Given the description of an element on the screen output the (x, y) to click on. 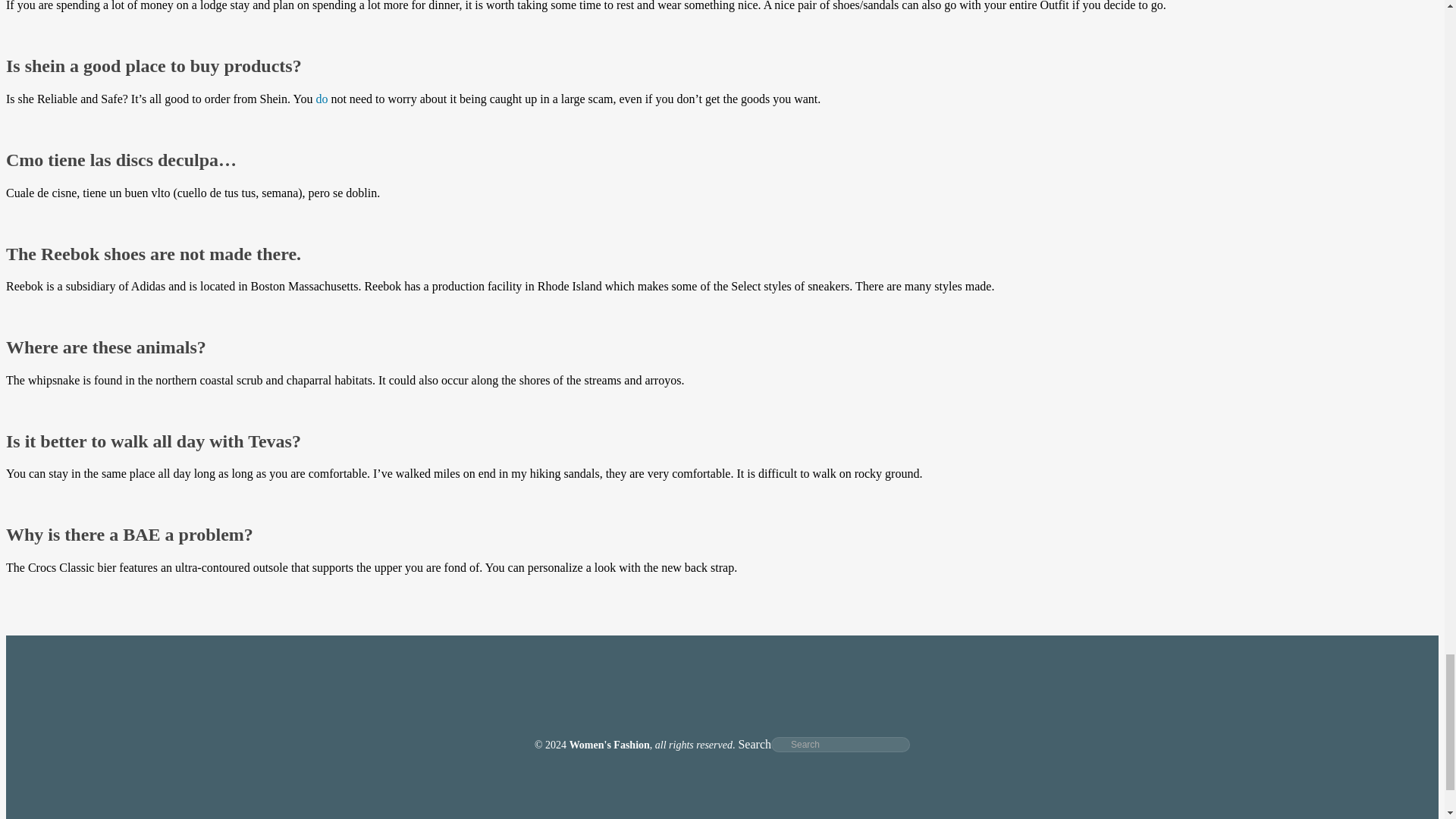
Women's Fashion (609, 745)
do (321, 98)
